Given the description of an element on the screen output the (x, y) to click on. 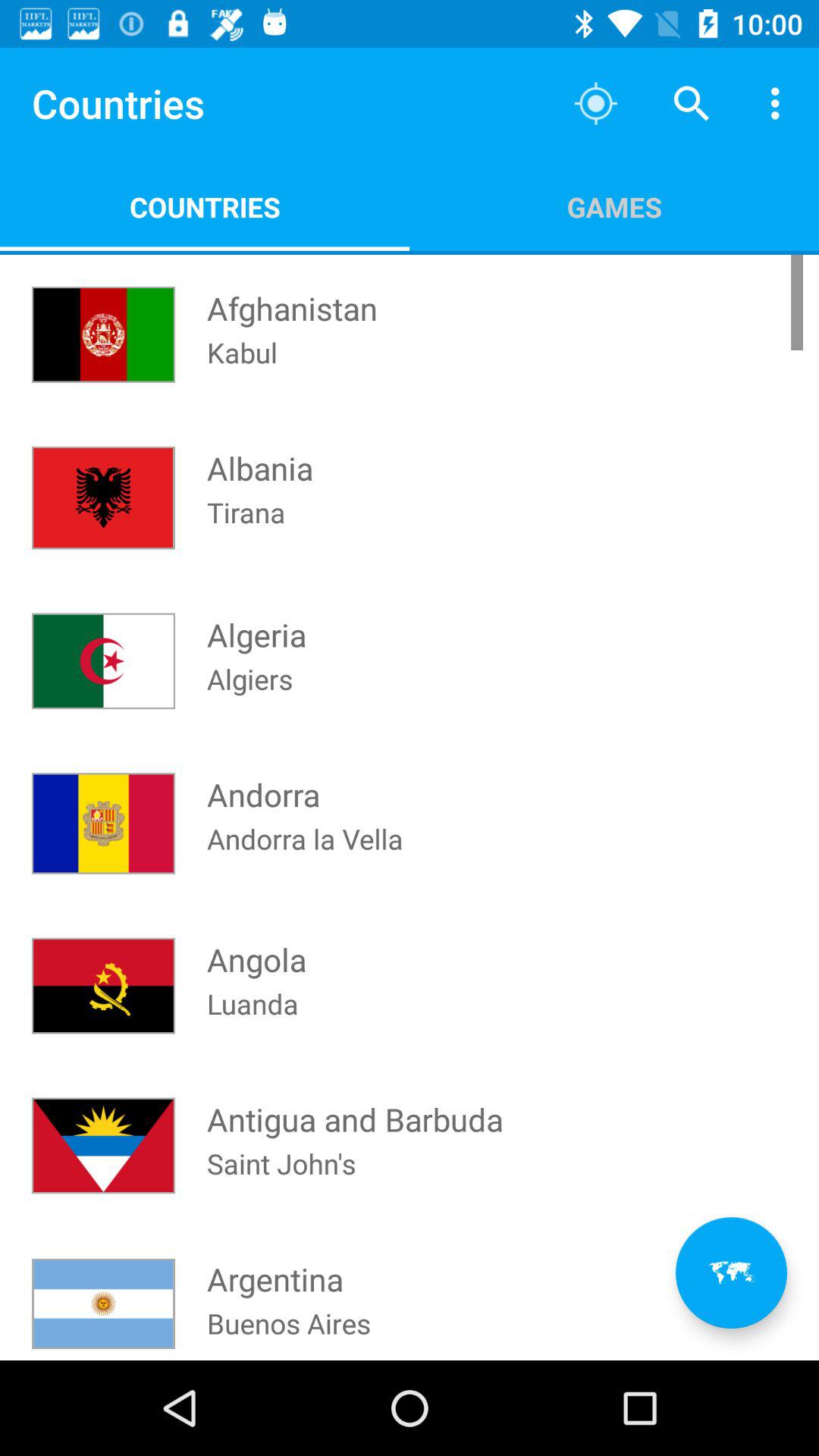
select icon above the games icon (691, 103)
